Given the description of an element on the screen output the (x, y) to click on. 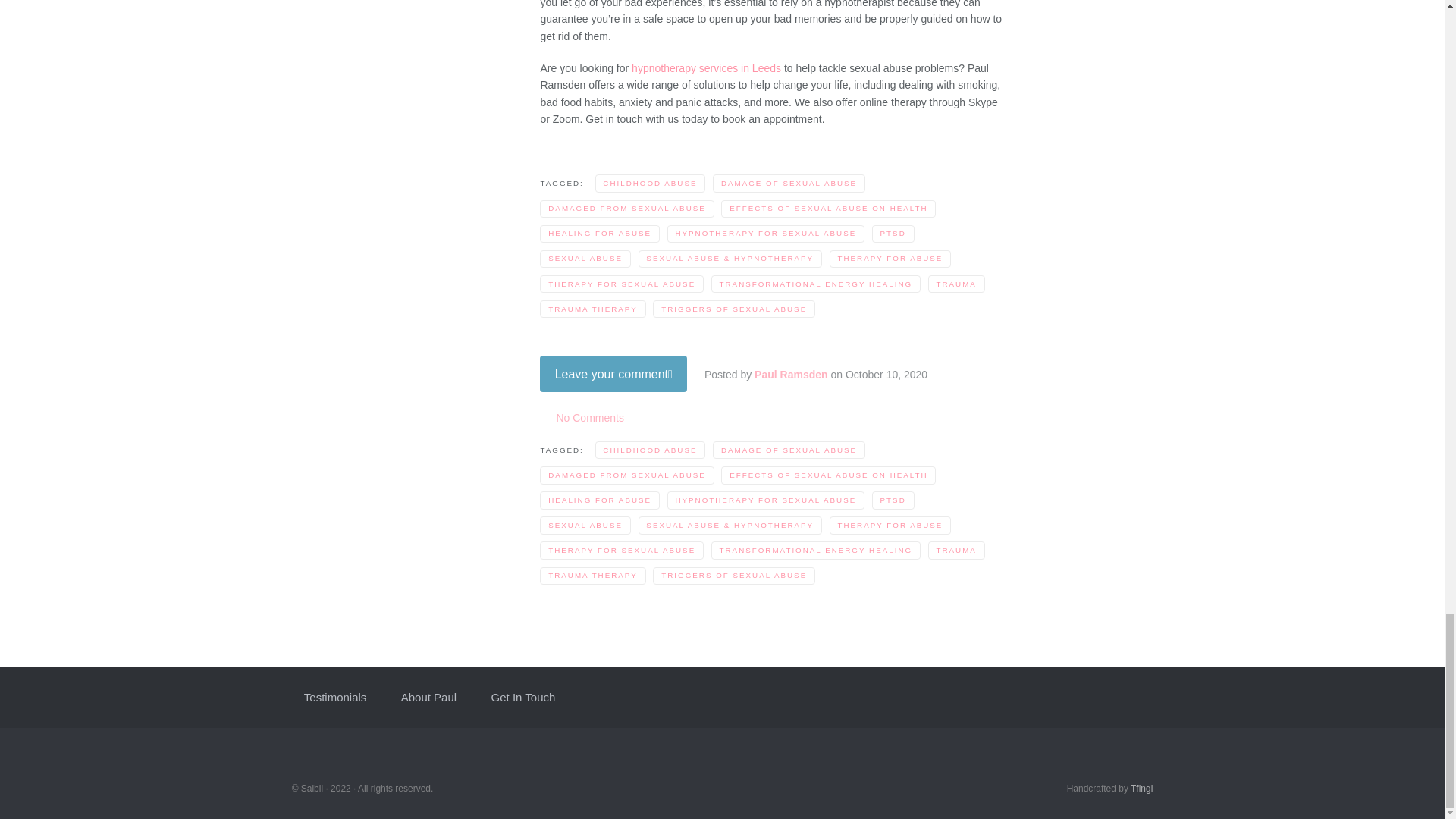
hypnotherapy services in Leeds (705, 68)
DAMAGED FROM SEXUAL ABUSE (626, 208)
EFFECTS OF SEXUAL ABUSE ON HEALTH (828, 208)
HYPNOTHERAPY FOR SEXUAL ABUSE (765, 233)
CHILDHOOD ABUSE (650, 182)
PTSD (893, 233)
DAMAGE OF SEXUAL ABUSE (788, 182)
HEALING FOR ABUSE (599, 233)
View all posts by Paul Ramsden (790, 374)
